Given the description of an element on the screen output the (x, y) to click on. 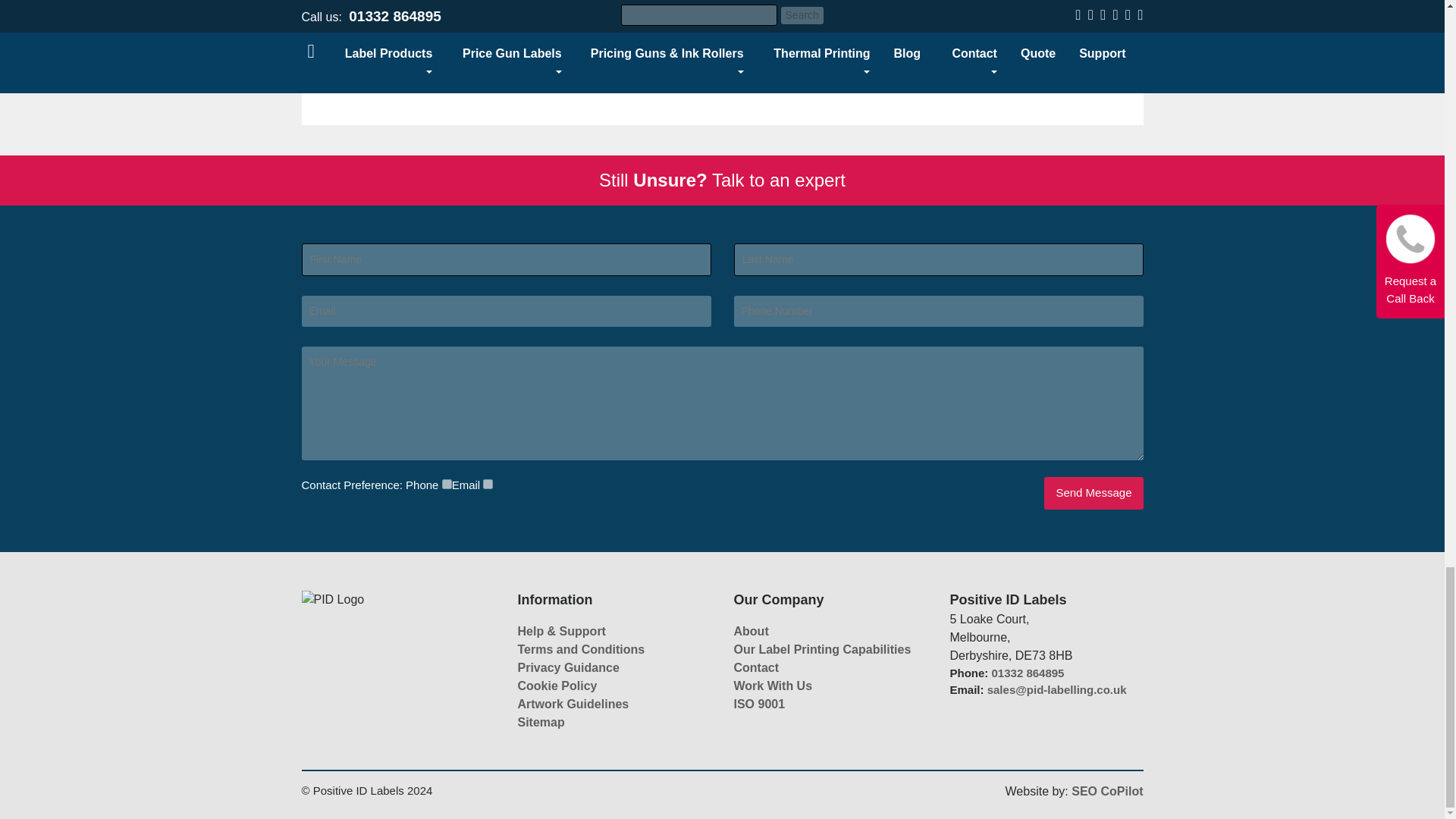
Email (488, 483)
Send Message (1092, 492)
Phone (446, 483)
